Given the description of an element on the screen output the (x, y) to click on. 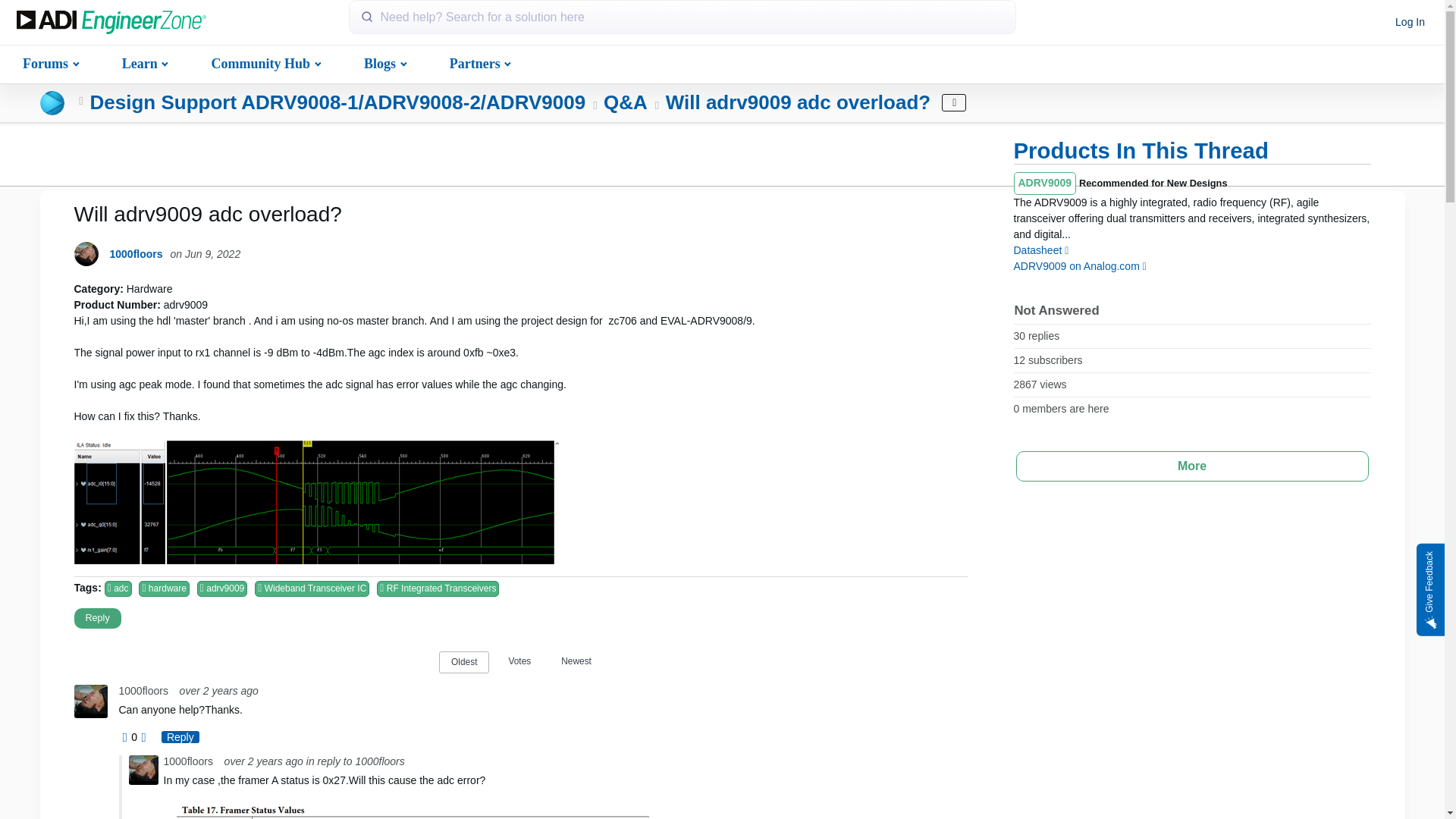
Log In (1409, 22)
View Parent Groups (81, 101)
Home (111, 22)
Join or sign in (1409, 22)
Forums (49, 62)
